Given the description of an element on the screen output the (x, y) to click on. 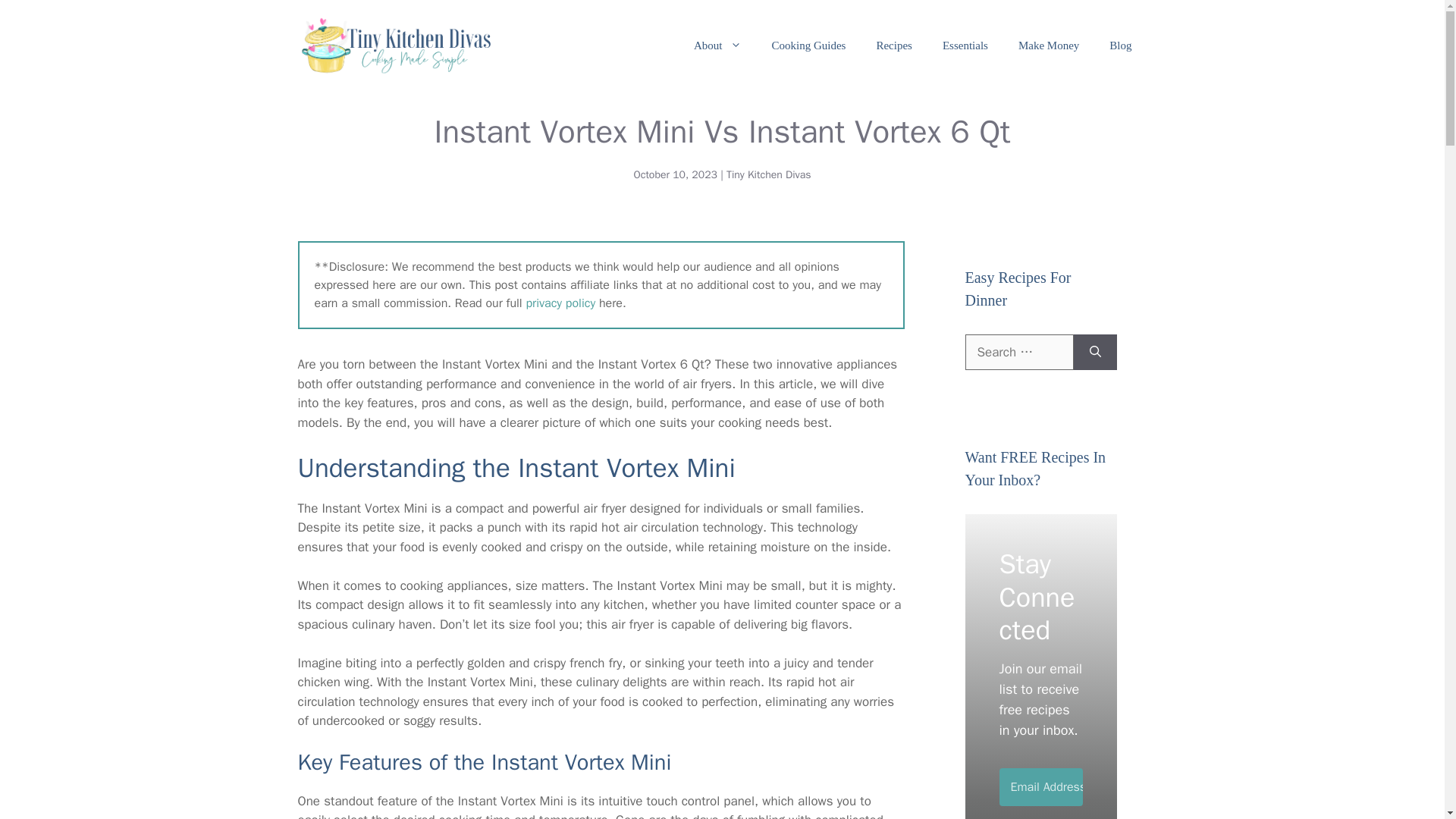
About (717, 44)
Recipes (893, 44)
privacy policy (560, 303)
Blog (1120, 44)
Tiny Kitchen Divas (768, 174)
View all posts by Tiny Kitchen Divas (768, 174)
Cooking Guides (809, 44)
Search for: (1018, 352)
Make Money (1048, 44)
Essentials (965, 44)
